Given the description of an element on the screen output the (x, y) to click on. 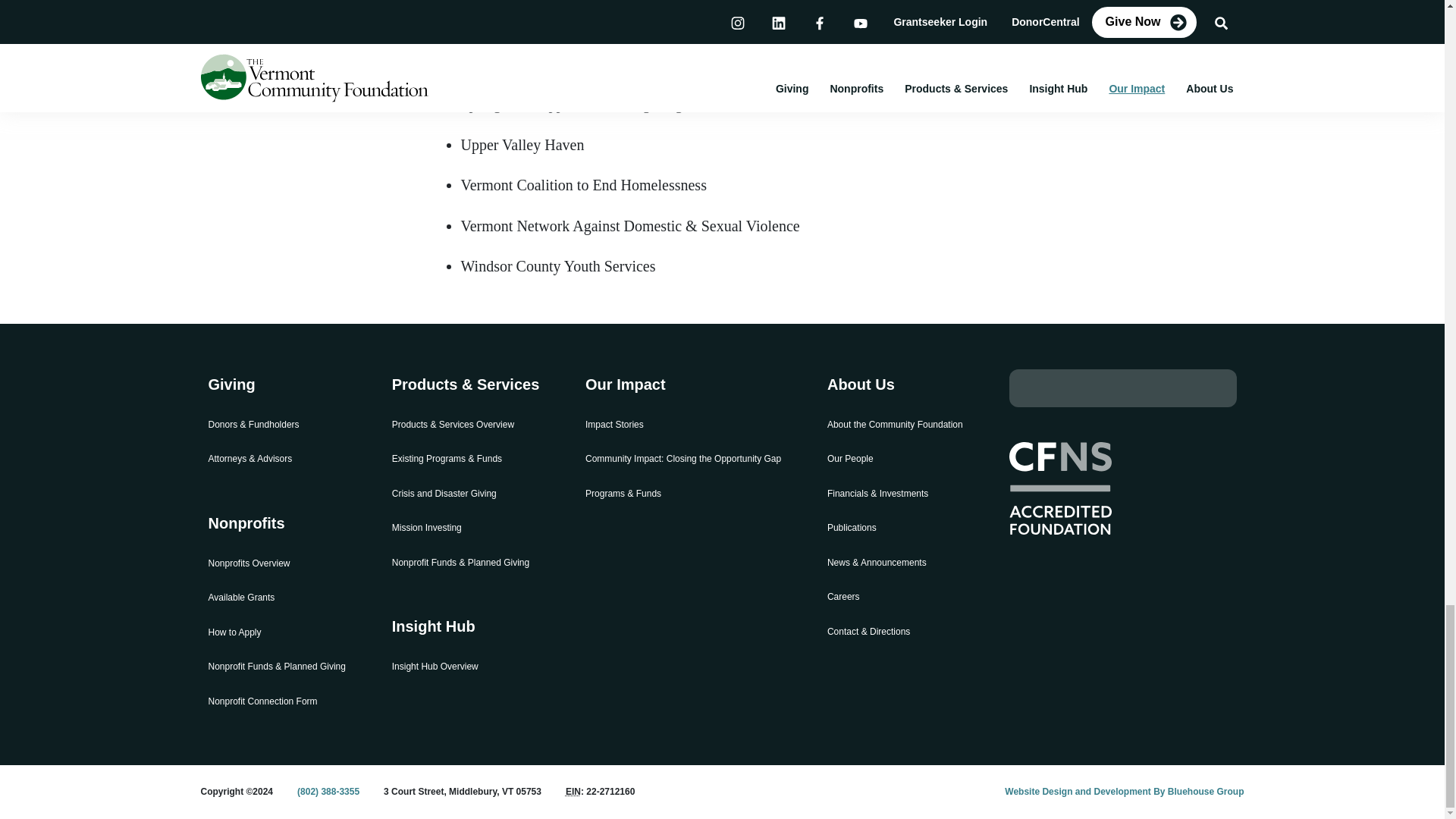
Employer identification number (573, 791)
